Given the description of an element on the screen output the (x, y) to click on. 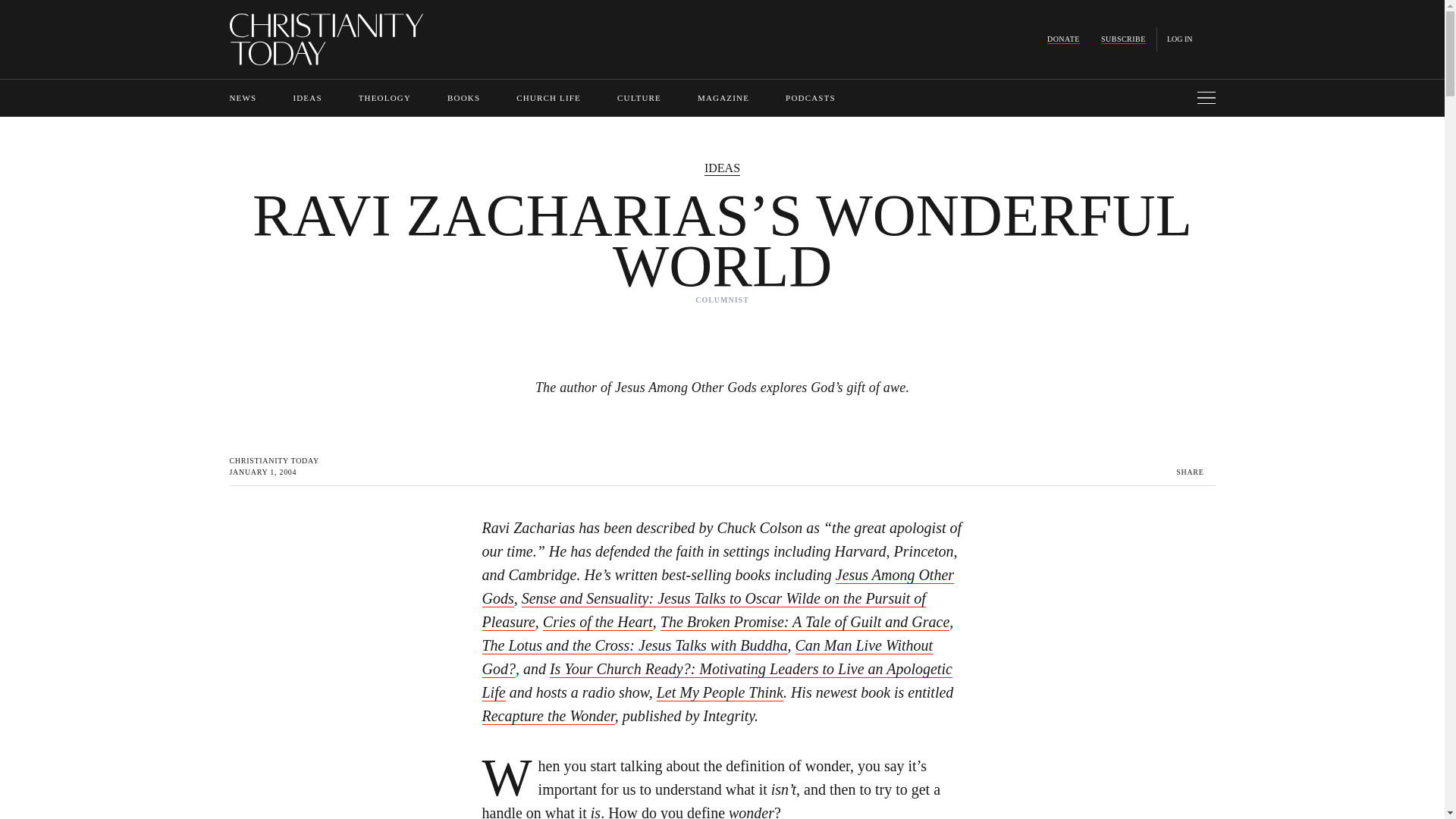
CULTURE (639, 97)
BOOKS (463, 97)
LOG IN (1179, 39)
IDEAS (306, 97)
NEWS (242, 97)
THEOLOGY (384, 97)
SUBSCRIBE (1122, 39)
CHURCH LIFE (548, 97)
MAGAZINE (723, 97)
PODCASTS (810, 97)
